Given the description of an element on the screen output the (x, y) to click on. 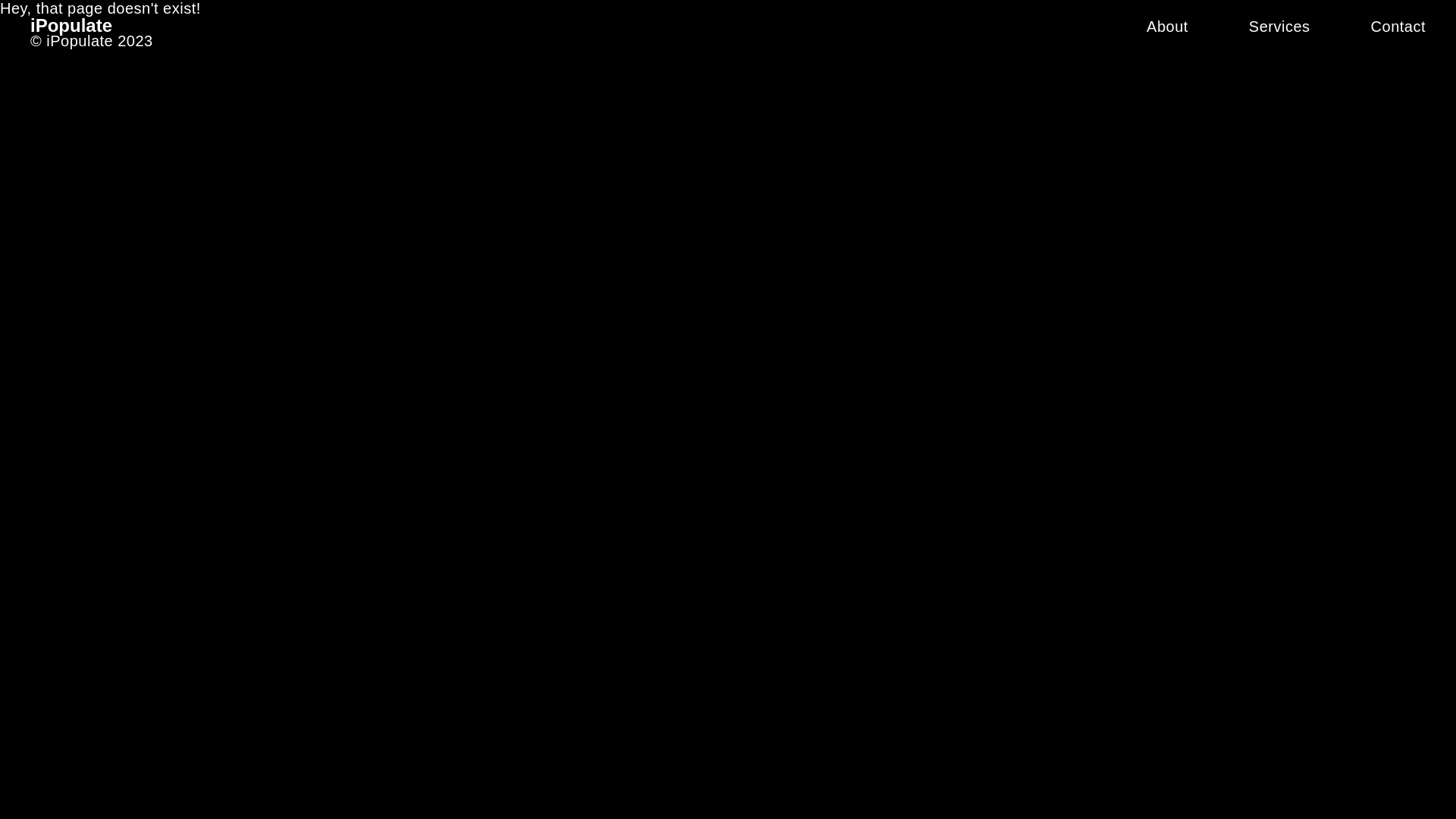
Services Element type: text (1279, 26)
Contact Element type: text (1398, 26)
About Element type: text (1167, 26)
